Given the description of an element on the screen output the (x, y) to click on. 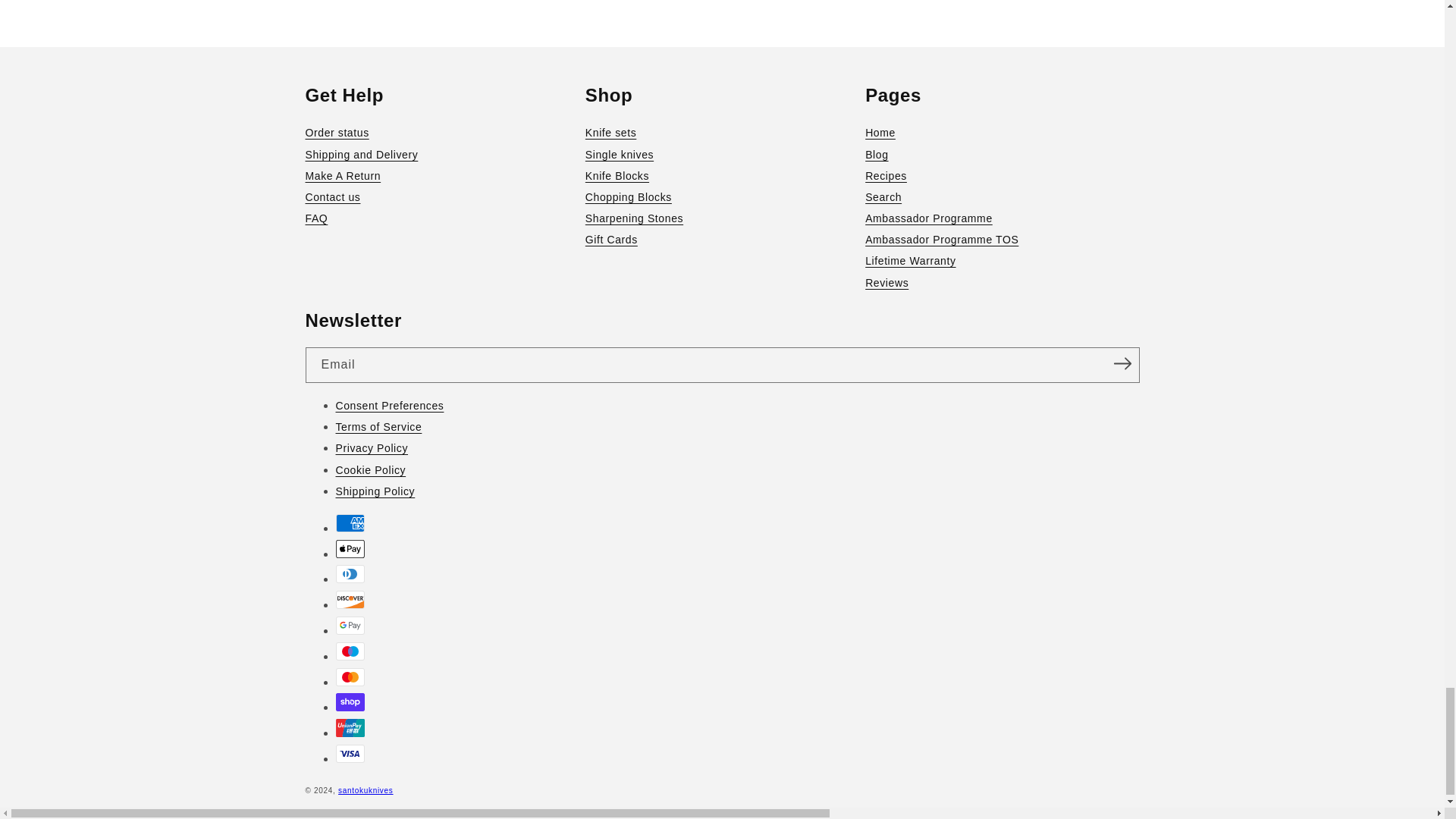
Apple Pay (349, 548)
Maestro (349, 651)
Cookie Policy (736, 468)
Union Pay (349, 728)
Privacy Policy (736, 447)
Visa (349, 753)
Terms of Service (736, 426)
American Express (349, 523)
Discover (349, 599)
Shipping Policy (736, 491)
